Given the description of an element on the screen output the (x, y) to click on. 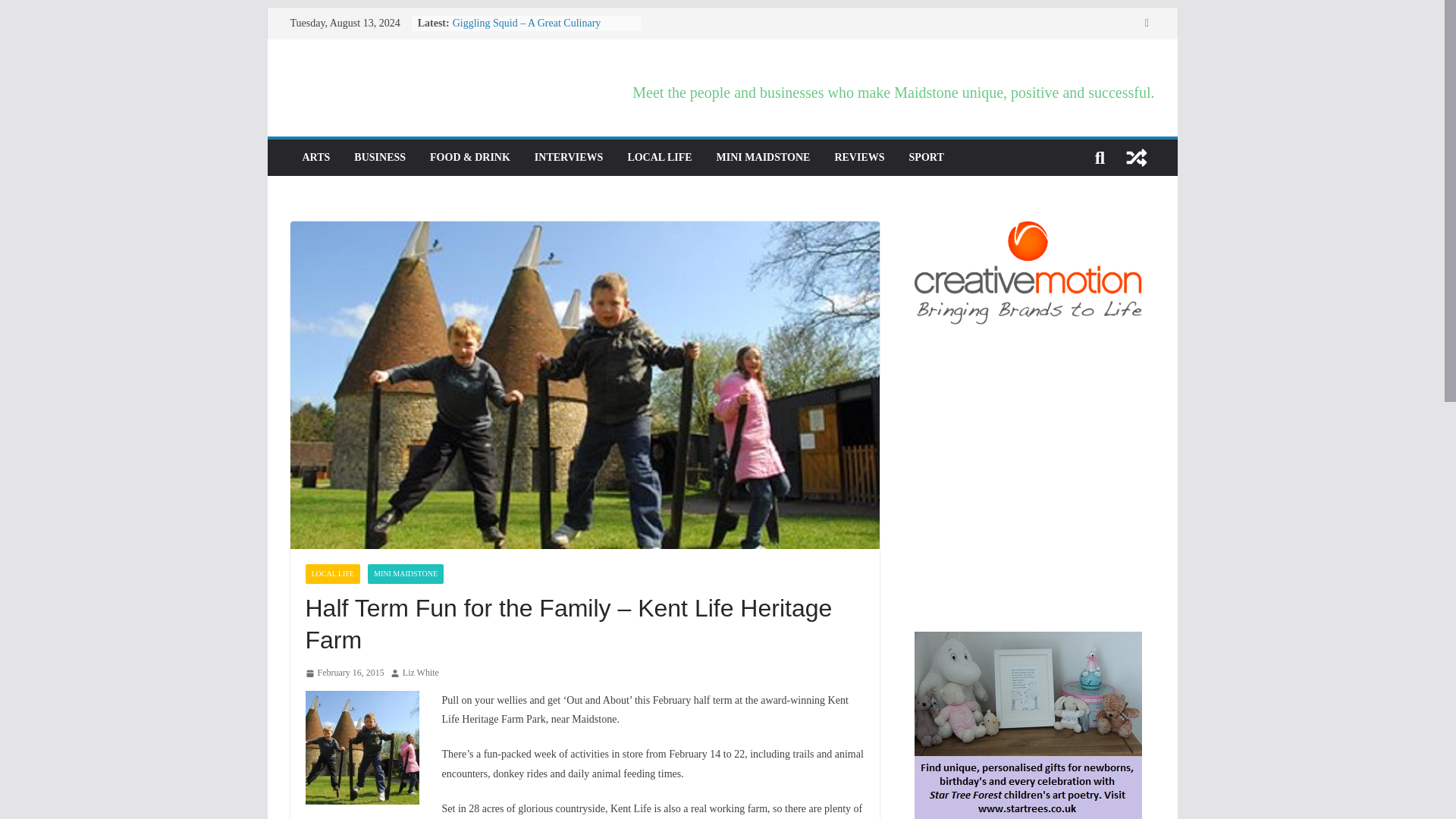
Liz White (421, 673)
SPORT (925, 157)
9:51 am (344, 673)
BUSINESS (379, 157)
Liz White (421, 673)
LOCAL LIFE (659, 157)
MINI MAIDSTONE (406, 573)
ARTS (315, 157)
MINI MAIDSTONE (763, 157)
